Given the description of an element on the screen output the (x, y) to click on. 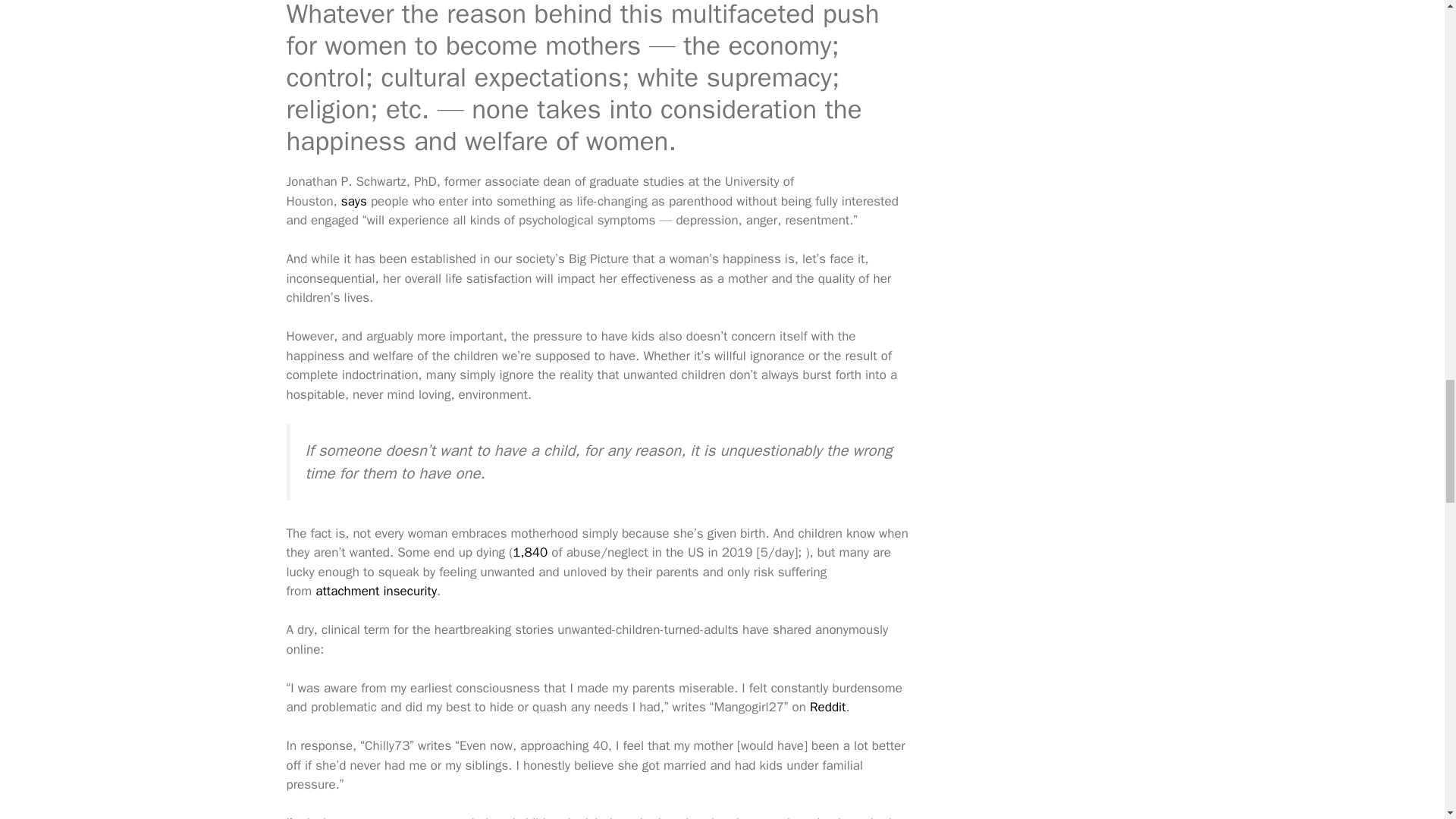
says (353, 201)
Reddit (827, 706)
1,840 (529, 552)
attachment insecurity (375, 590)
